Given the description of an element on the screen output the (x, y) to click on. 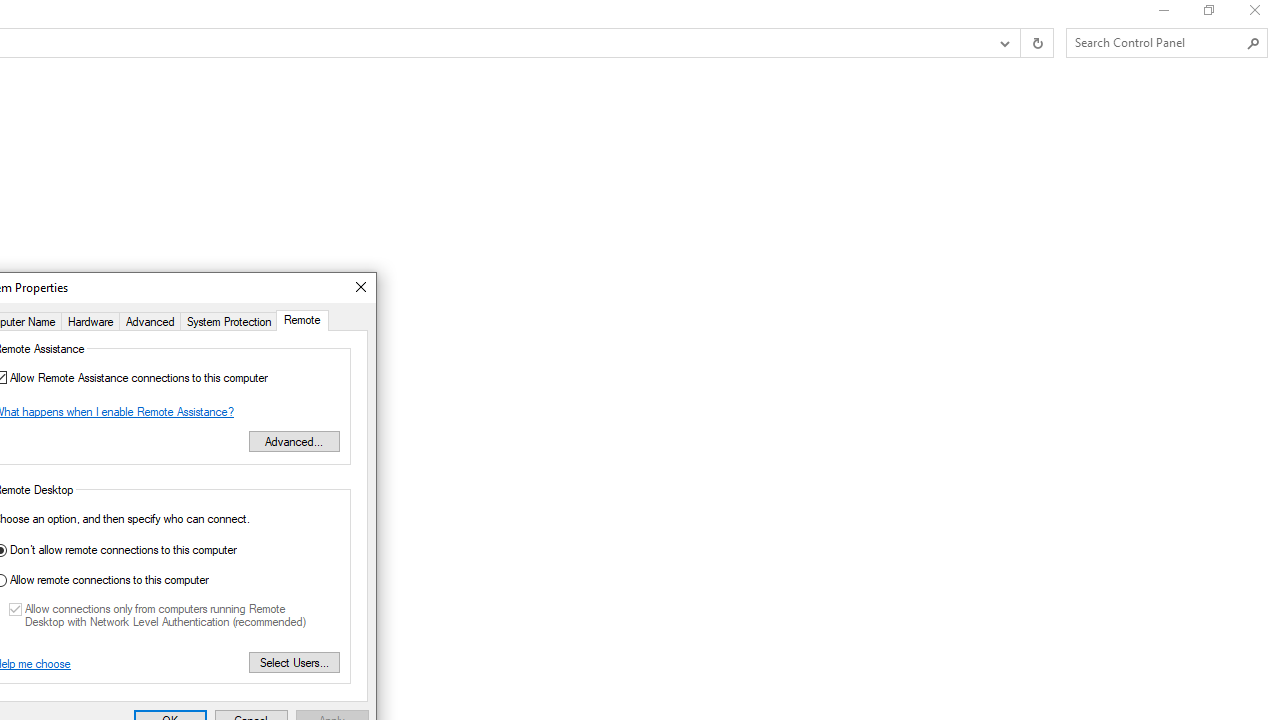
System Protection (228, 320)
Select Users... (294, 661)
Advanced (150, 320)
Advanced... (294, 440)
Hardware (90, 320)
Close (360, 287)
Remote (301, 320)
